Given the description of an element on the screen output the (x, y) to click on. 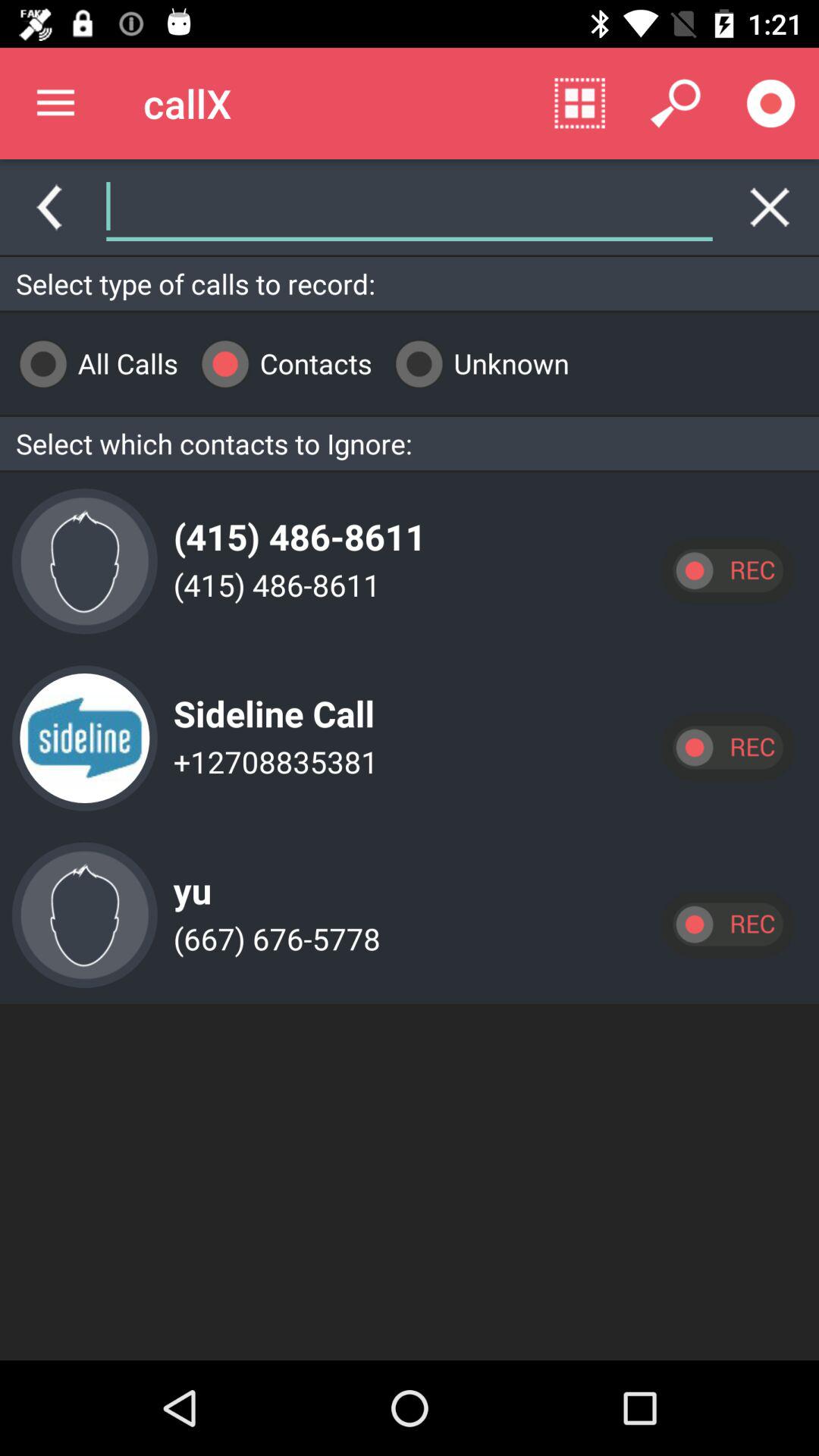
record (727, 747)
